Given the description of an element on the screen output the (x, y) to click on. 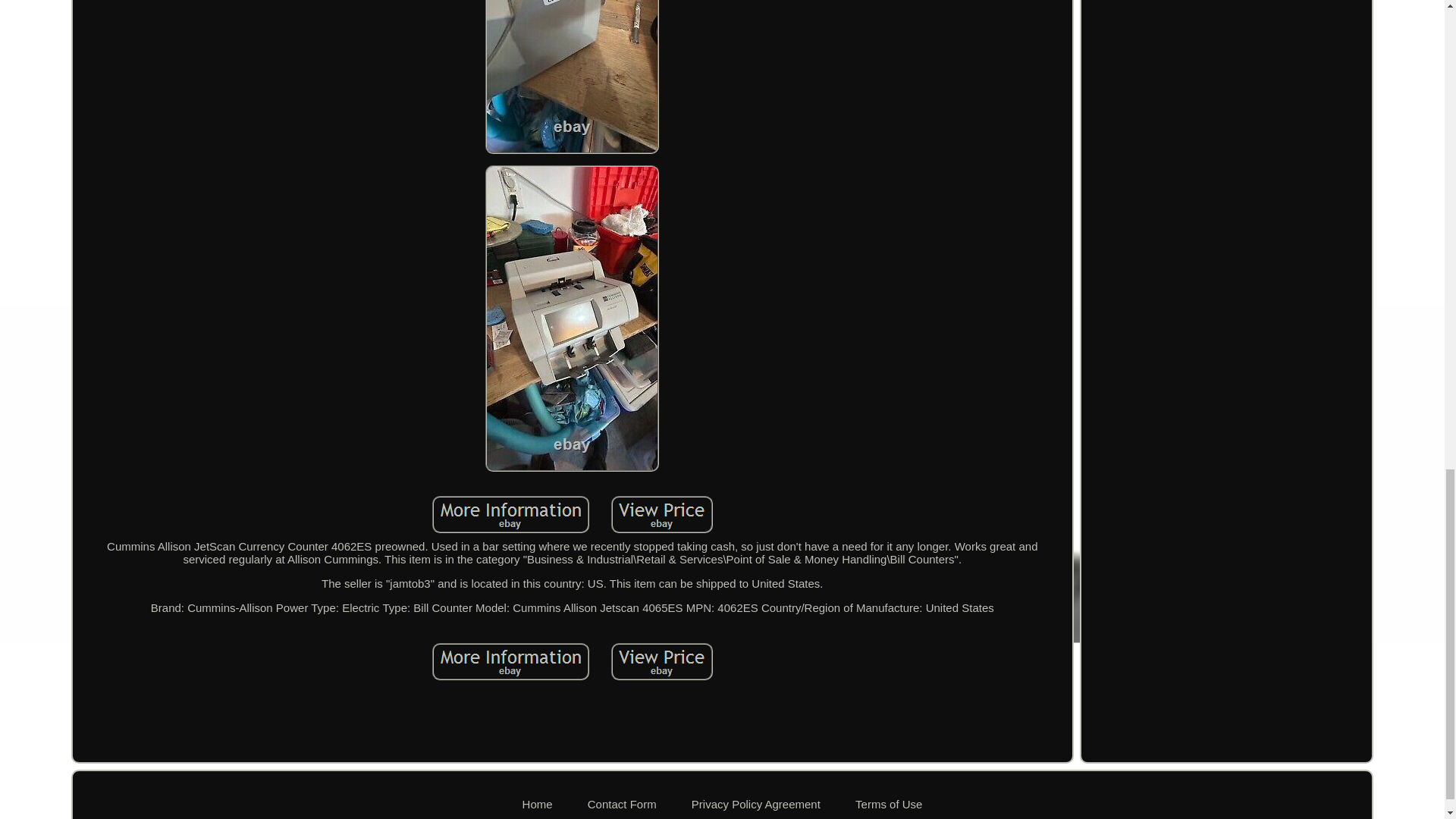
Cummins Allison JetScan Currency Counter 4062ES preowned (510, 661)
Cummins Allison JetScan Currency Counter 4062ES preowned (662, 514)
Cummins Allison JetScan Currency Counter 4062ES preowned (510, 514)
Cummins Allison JetScan Currency Counter 4062ES preowned (571, 76)
Cummins Allison JetScan Currency Counter 4062ES preowned (571, 318)
Cummins Allison JetScan Currency Counter 4062ES preowned (662, 661)
